Given the description of an element on the screen output the (x, y) to click on. 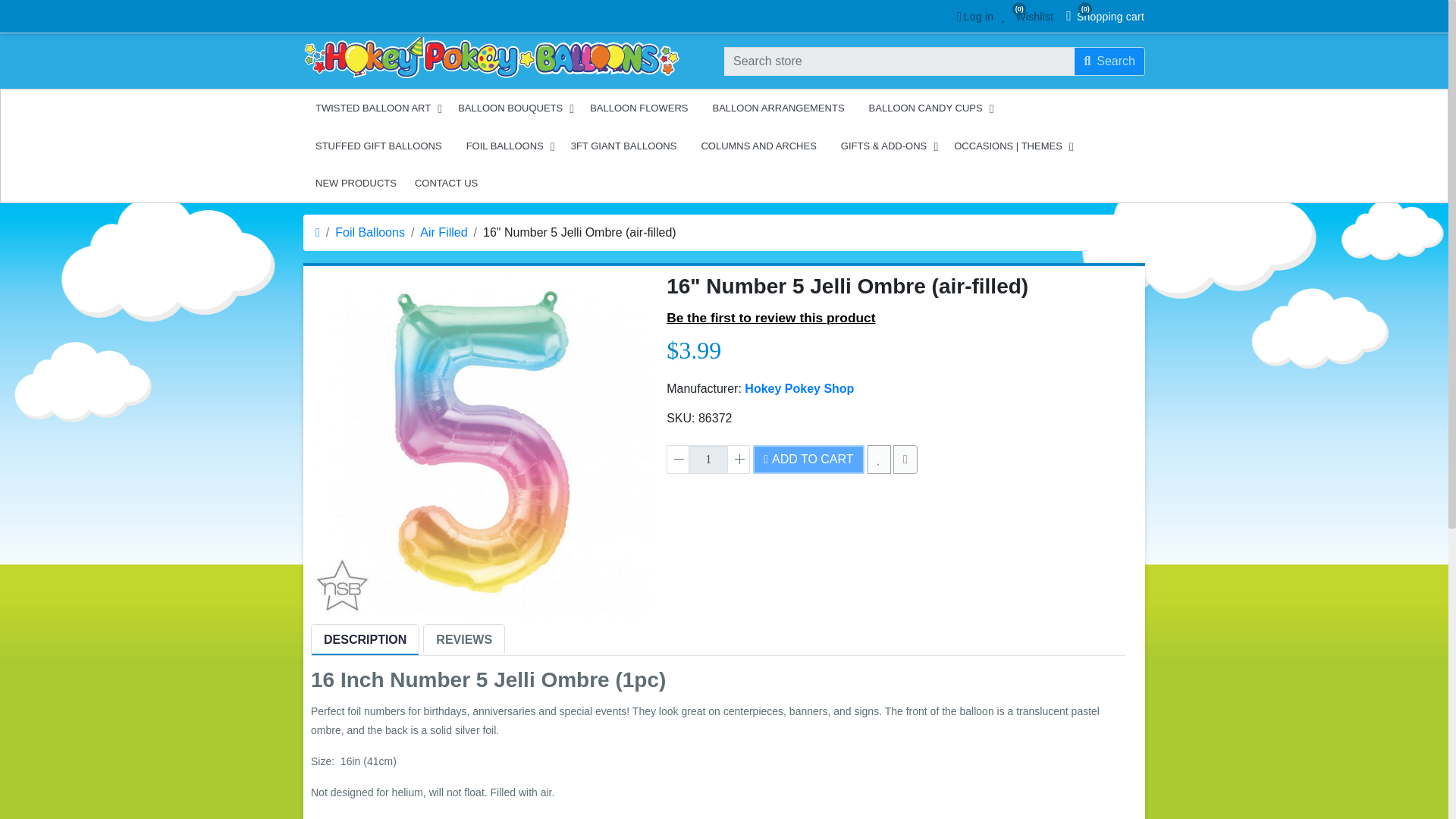
Logo (490, 57)
BALLOON BOUQUETS (1109, 61)
1 (511, 108)
TWISTED BALLOON ART (707, 459)
Log in (373, 108)
